Given the description of an element on the screen output the (x, y) to click on. 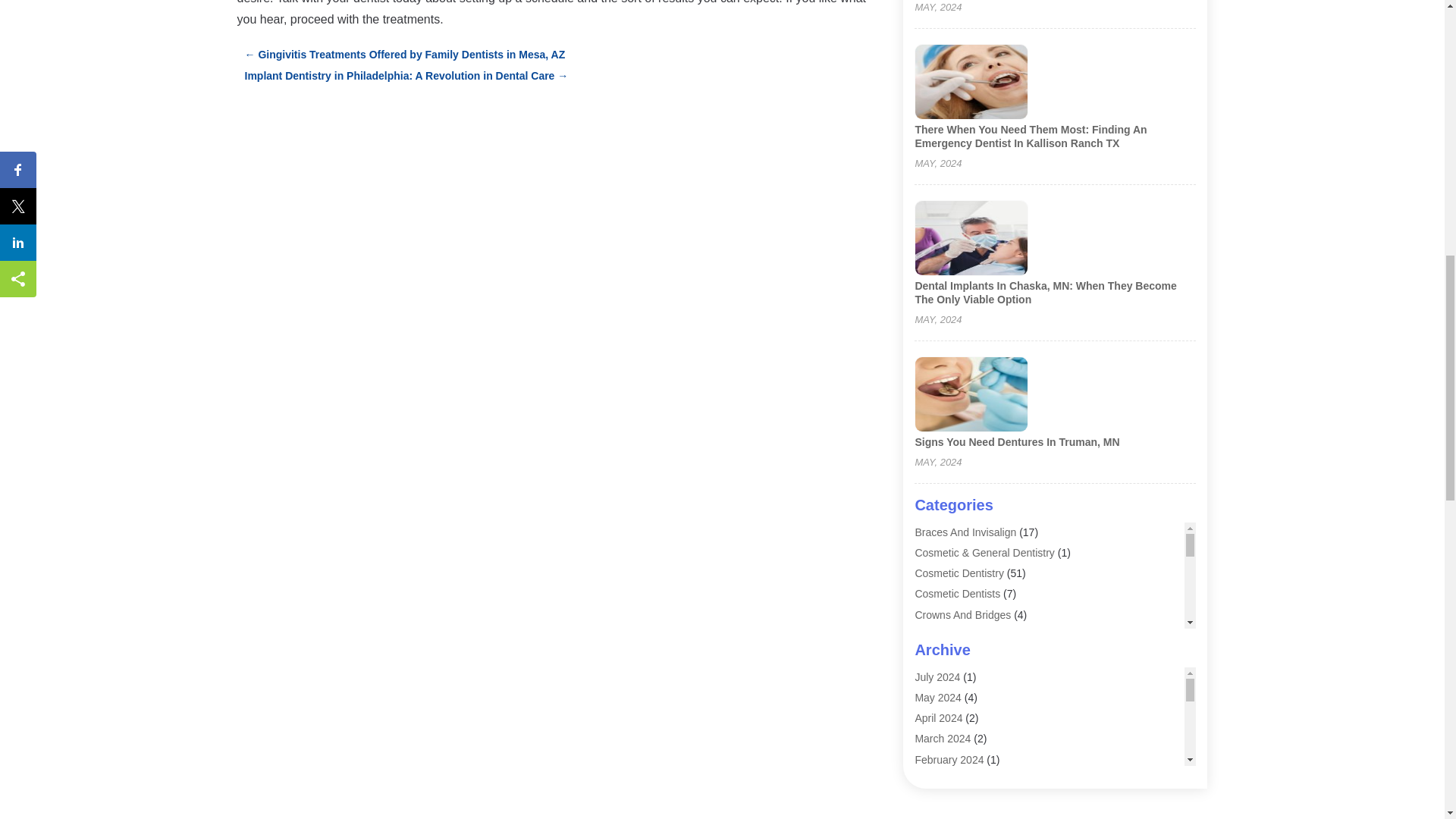
Crowns And Bridges (962, 614)
Cosmetic Dentists (957, 593)
Dental Restoration (958, 696)
Signs You Need Dentures In Truman, MN (1016, 441)
Dental Emergency (957, 655)
Cosmetic Dentistry (958, 573)
Dental Caries (946, 635)
Braces And Invisalign (965, 532)
Dental Implants (951, 676)
